Given the description of an element on the screen output the (x, y) to click on. 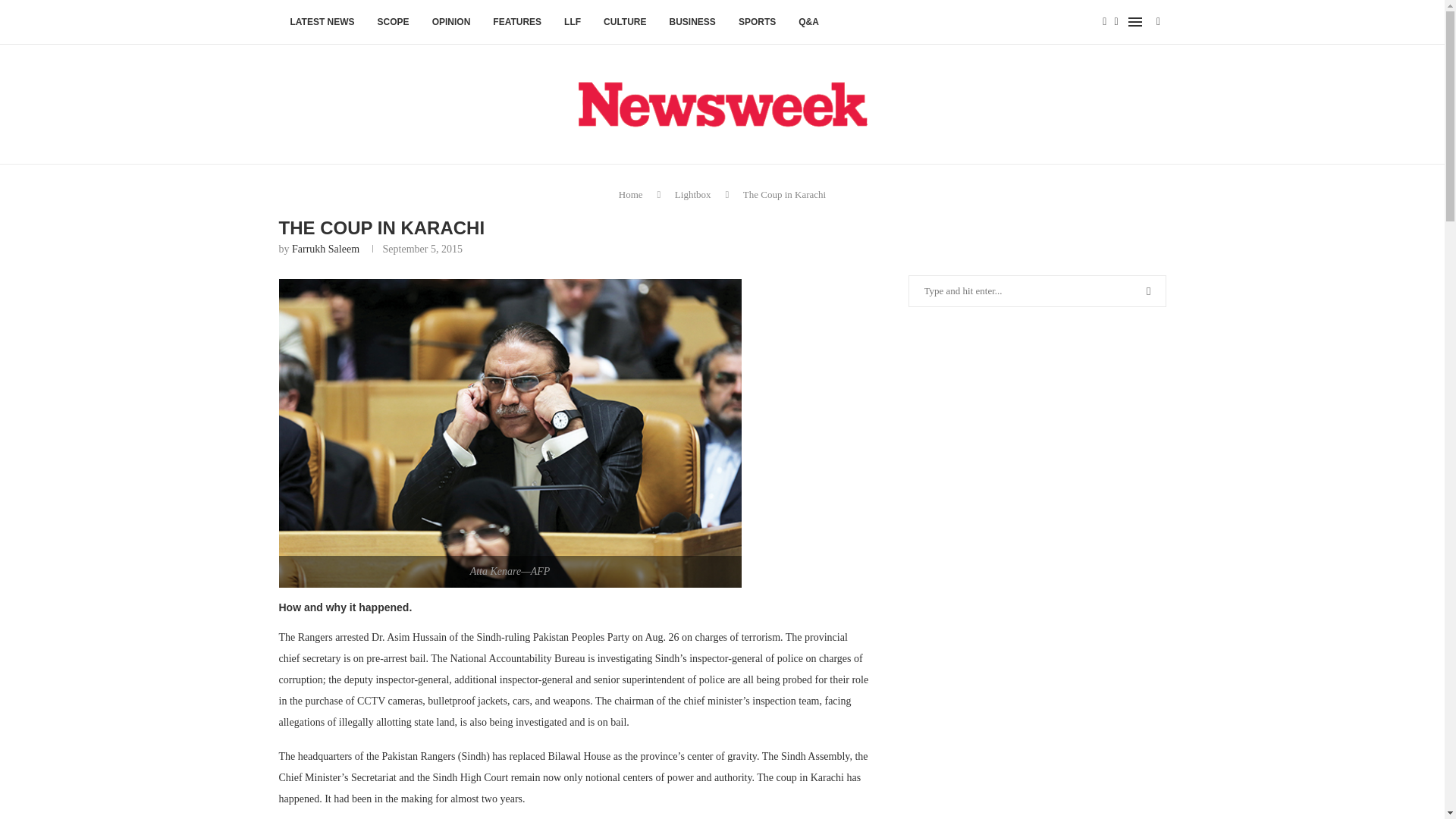
FEATURES (517, 22)
Farrukh Saleem (325, 248)
SCOPE (393, 22)
SPORTS (756, 22)
OPINION (450, 22)
LATEST NEWS (322, 22)
CULTURE (625, 22)
Lightbox (693, 194)
BUSINESS (692, 22)
Home (630, 194)
